Given the description of an element on the screen output the (x, y) to click on. 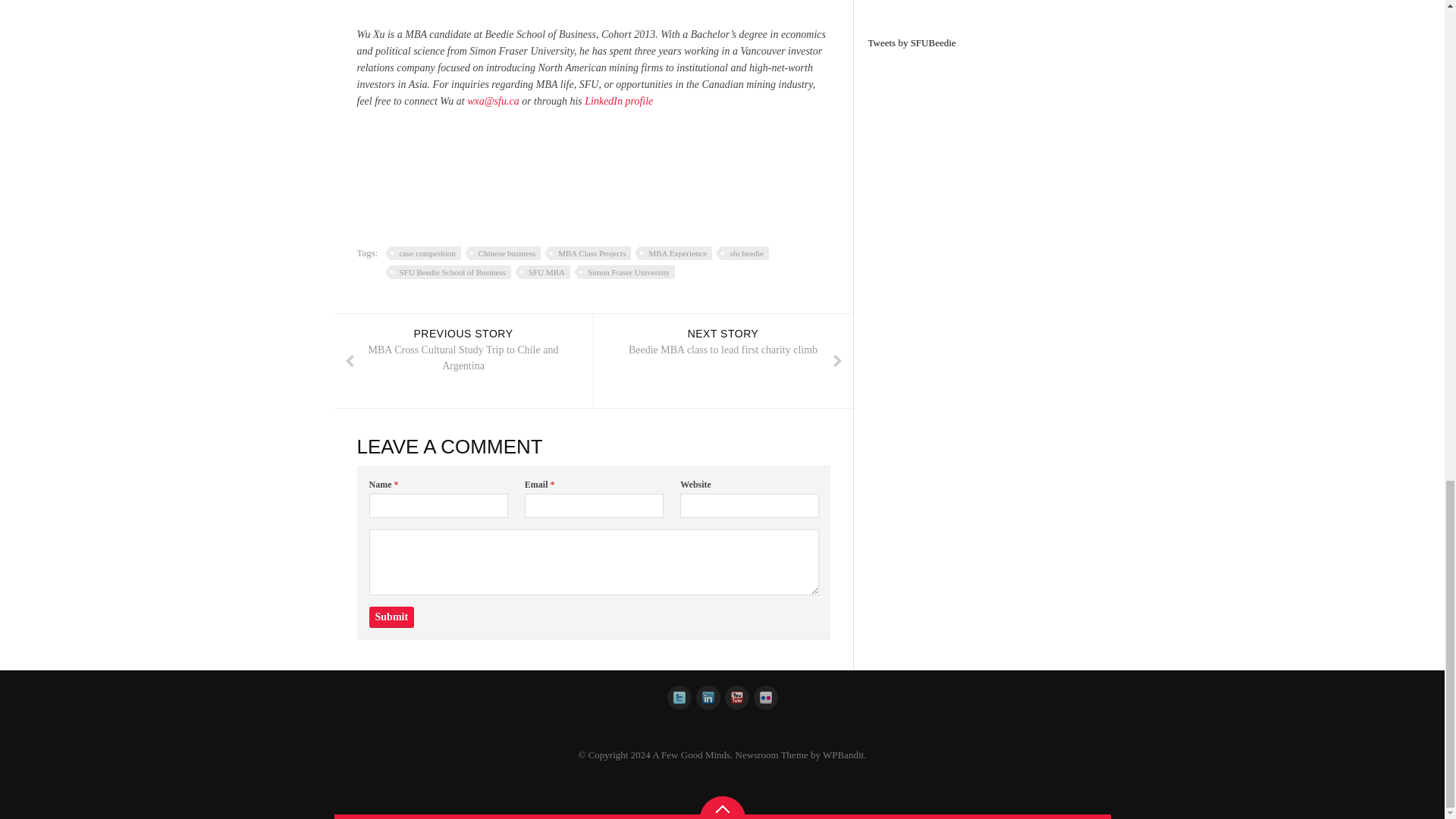
sfu beedie (742, 253)
Simon Fraser University (624, 272)
MBA Experience (672, 253)
case competition (422, 253)
SFU MBA (721, 360)
LinkedIn profile (542, 272)
Submit (617, 101)
Chinese business (391, 617)
MBA Class Projects (502, 253)
SFU Beedie School of Business (587, 253)
Submit (448, 272)
